Given the description of an element on the screen output the (x, y) to click on. 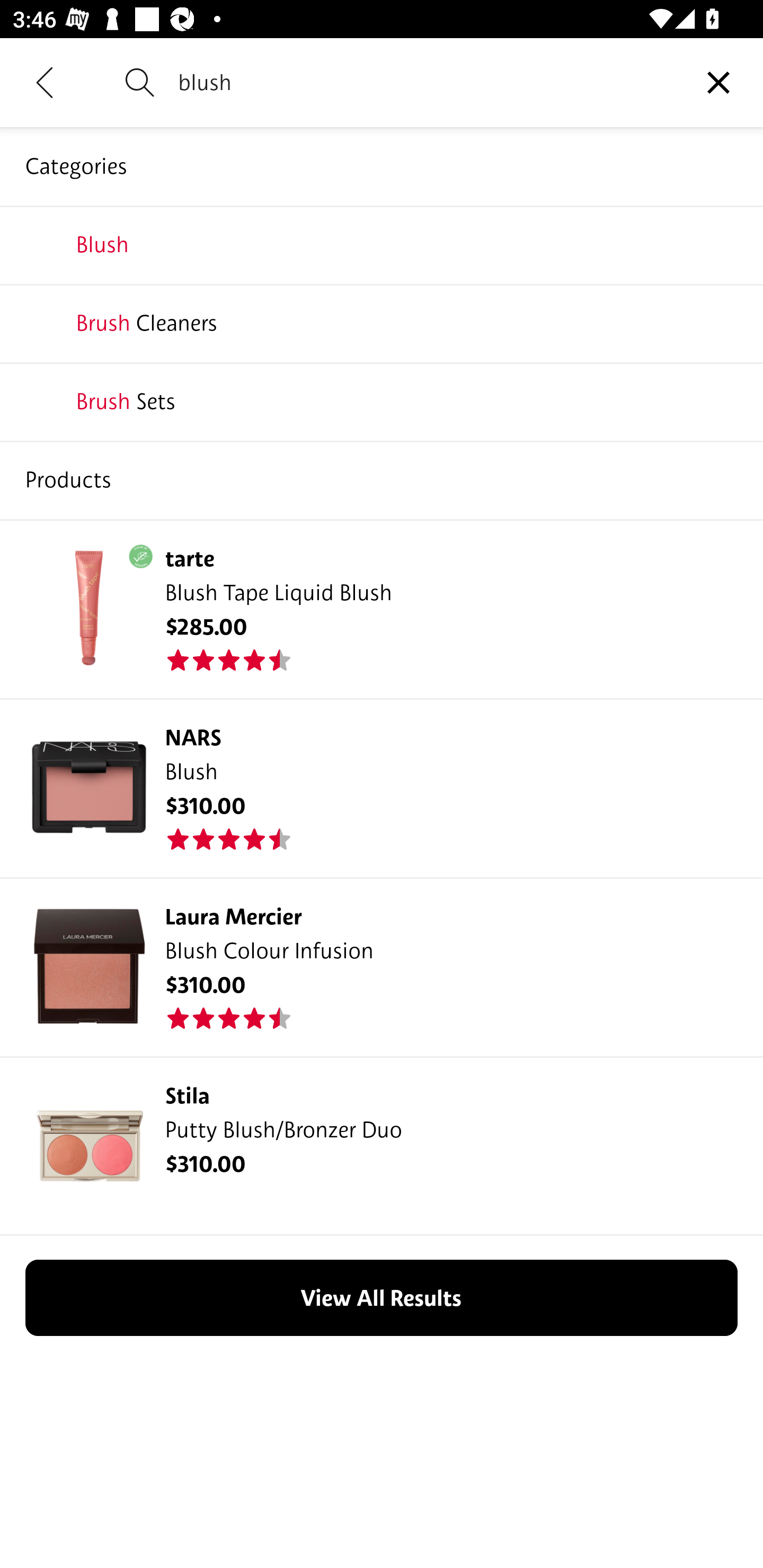
Navigate up (44, 82)
Clear query (718, 81)
blush (425, 82)
sephora collection (381, 244)
rare beauty (381, 322)
supergoop! (381, 401)
the ordinary (381, 479)
Product Image NARS Blush $310.00 (381, 786)
View All Results (381, 1297)
